Given the description of an element on the screen output the (x, y) to click on. 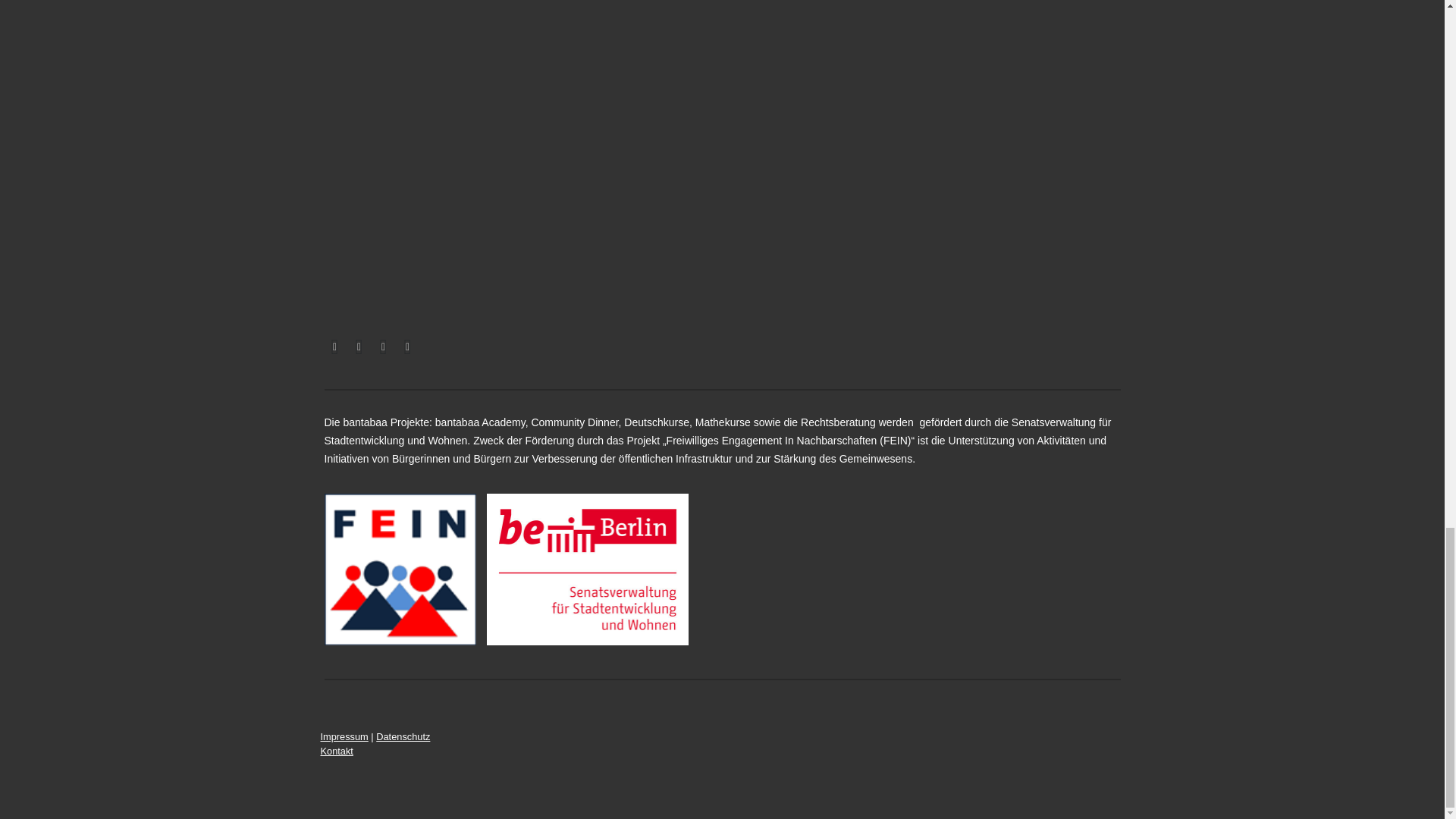
Evernote (408, 346)
E-Mail (383, 346)
Twitter (359, 346)
Facebook (335, 346)
